Given the description of an element on the screen output the (x, y) to click on. 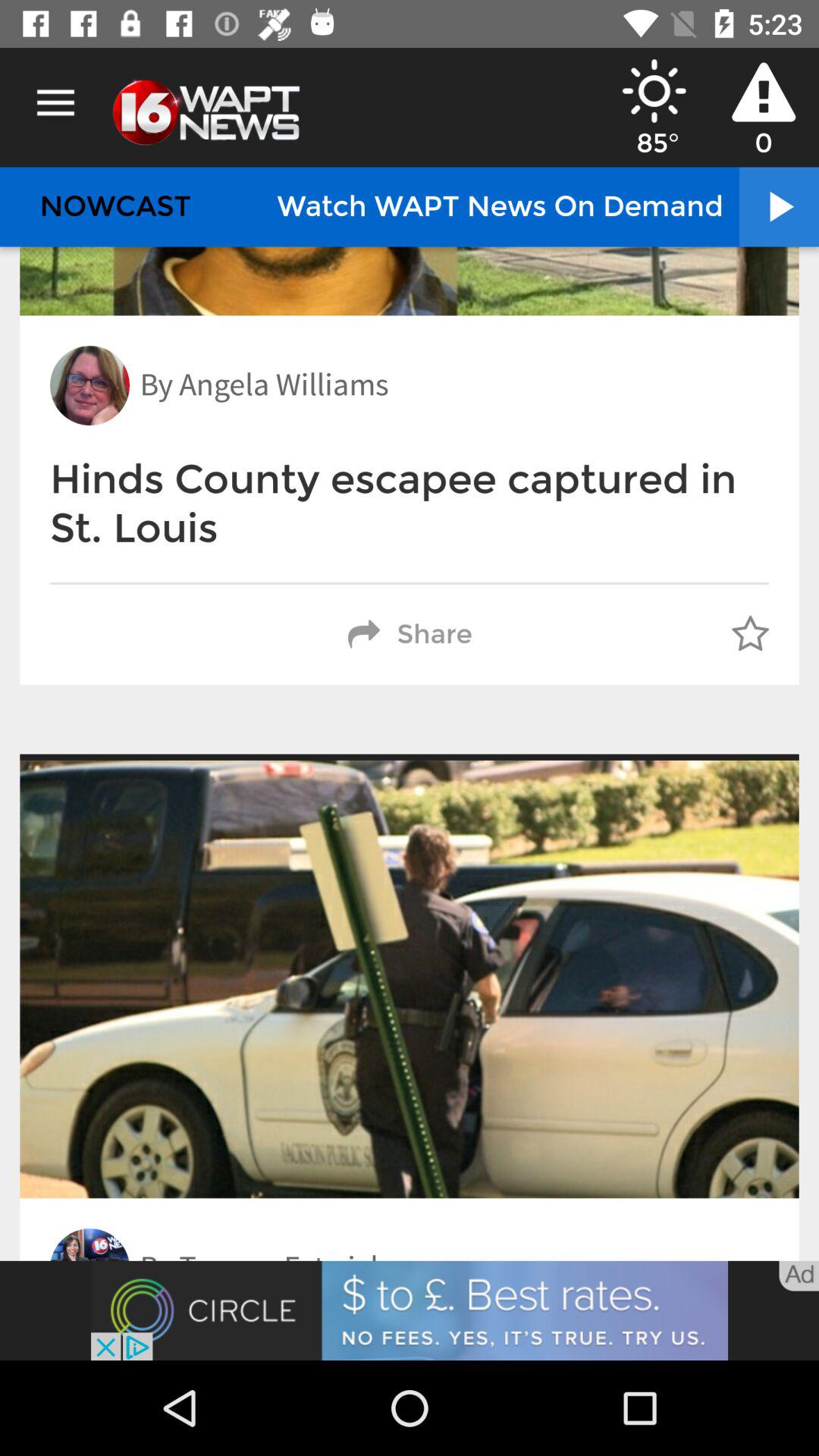
go to advertisement (409, 1310)
